Given the description of an element on the screen output the (x, y) to click on. 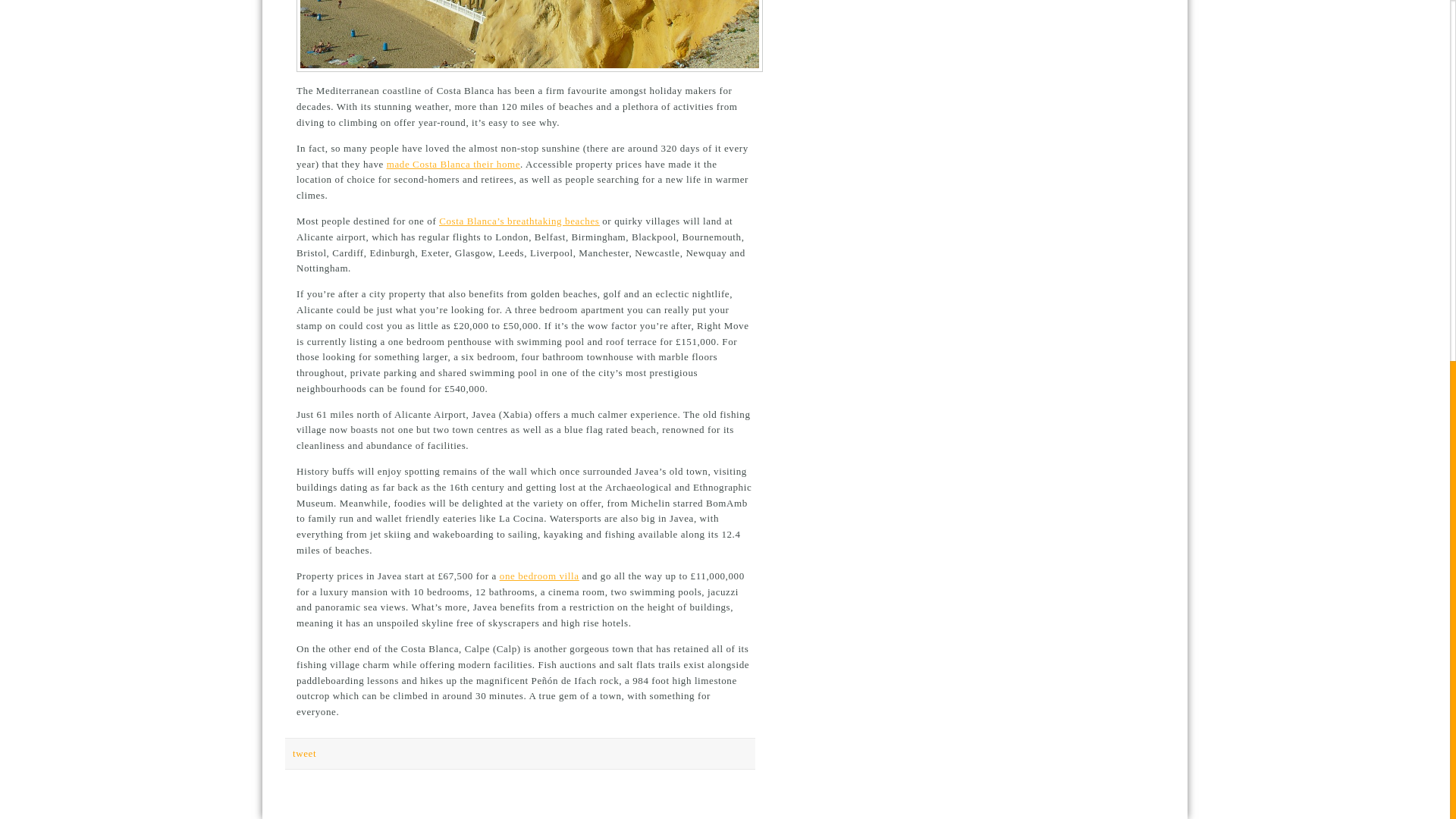
tweet (303, 753)
made Costa Blanca their home (453, 163)
one bedroom villa (539, 575)
